Given the description of an element on the screen output the (x, y) to click on. 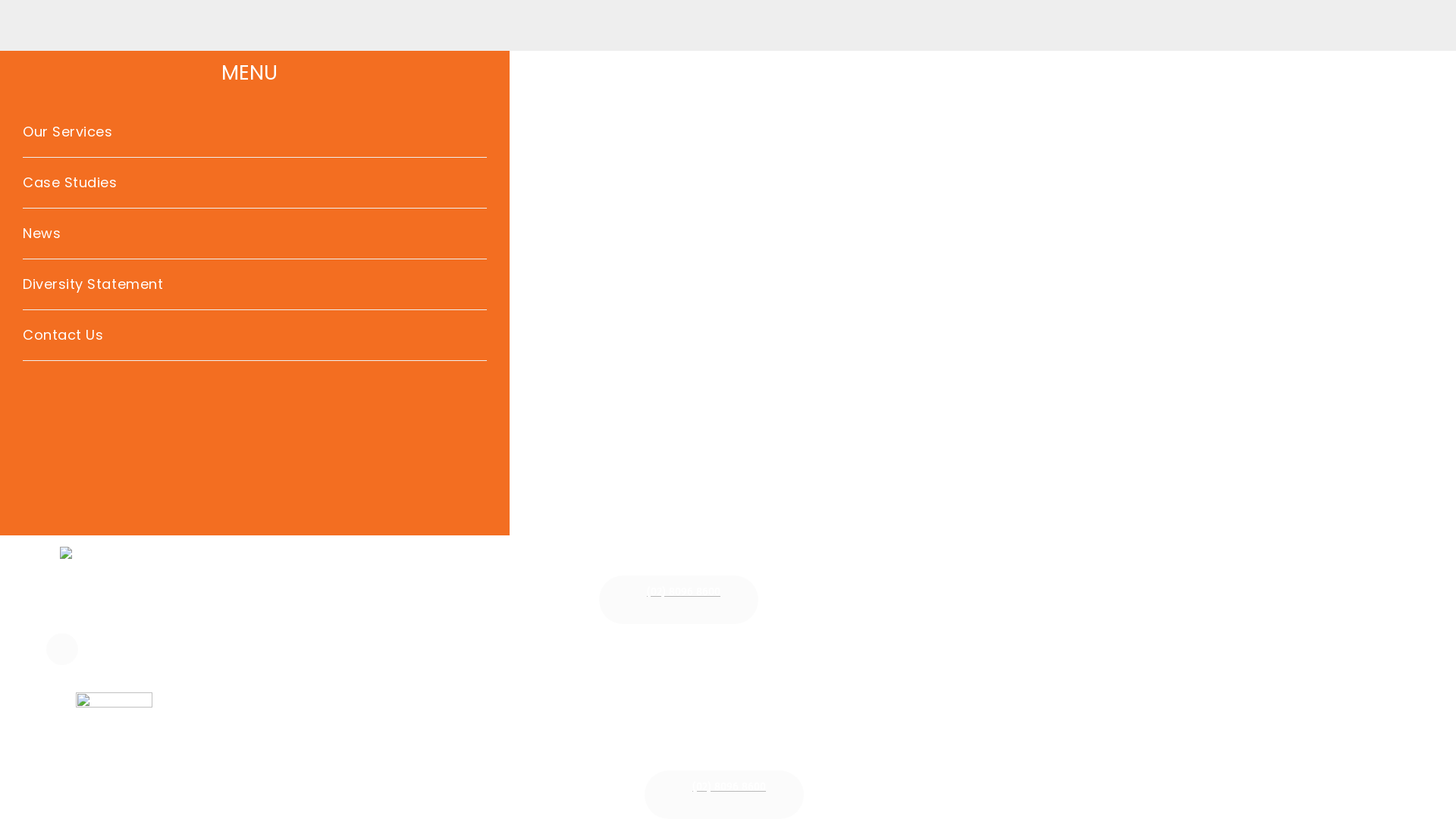
Contact Us Element type: text (254, 335)
Case Studies Element type: text (254, 182)
Diversity Statement Element type: text (254, 284)
News Element type: text (254, 233)
(02) 8096 8600 Element type: text (678, 599)
Our Services Element type: text (254, 131)
